Given the description of an element on the screen output the (x, y) to click on. 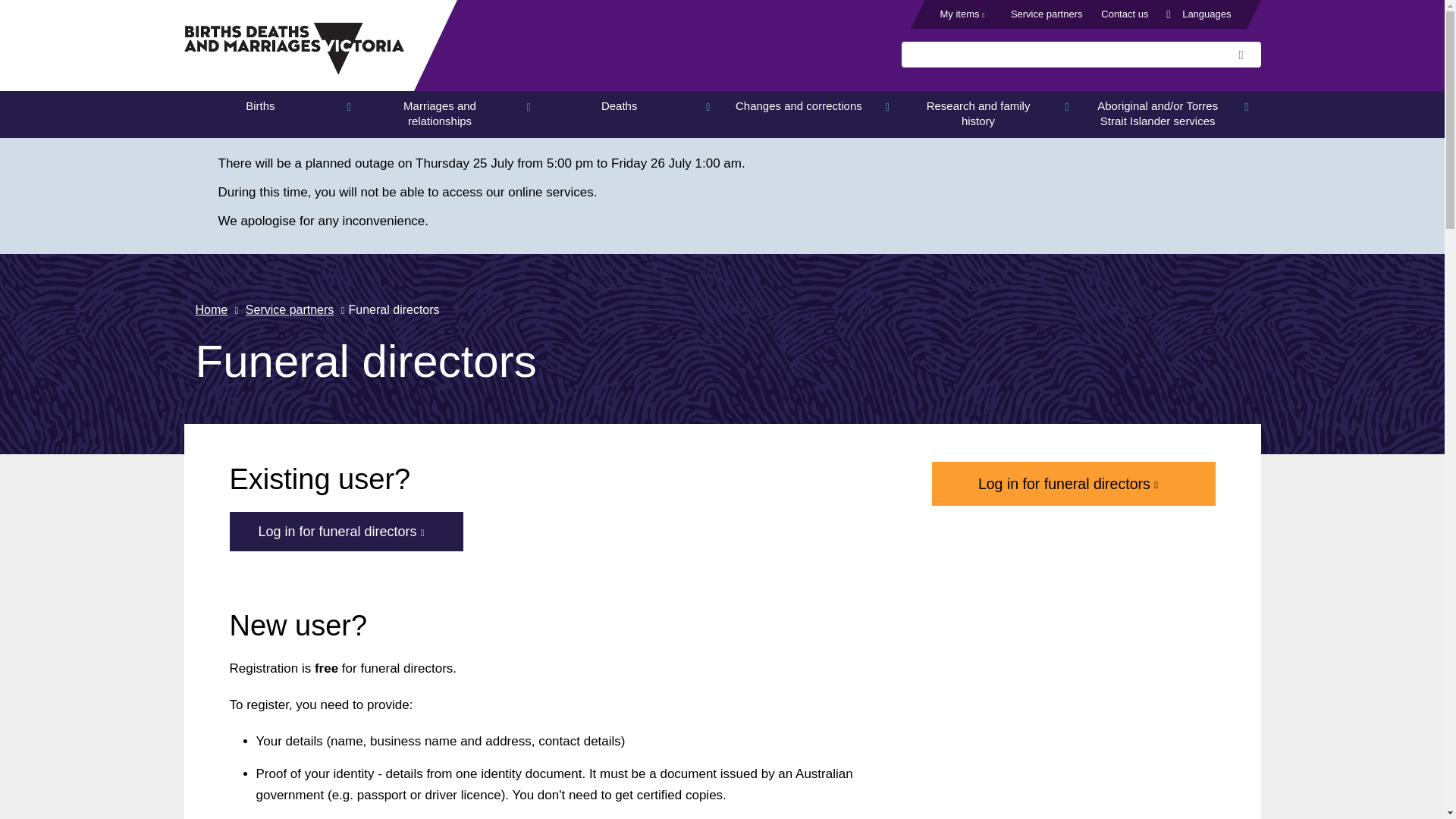
Marriages and relationships (452, 114)
Deaths (632, 114)
Service partners (1046, 14)
Changes and corrections (812, 114)
Births (272, 114)
Languages (1206, 14)
Home (293, 51)
Search (1245, 54)
Contact us (1124, 14)
